Given the description of an element on the screen output the (x, y) to click on. 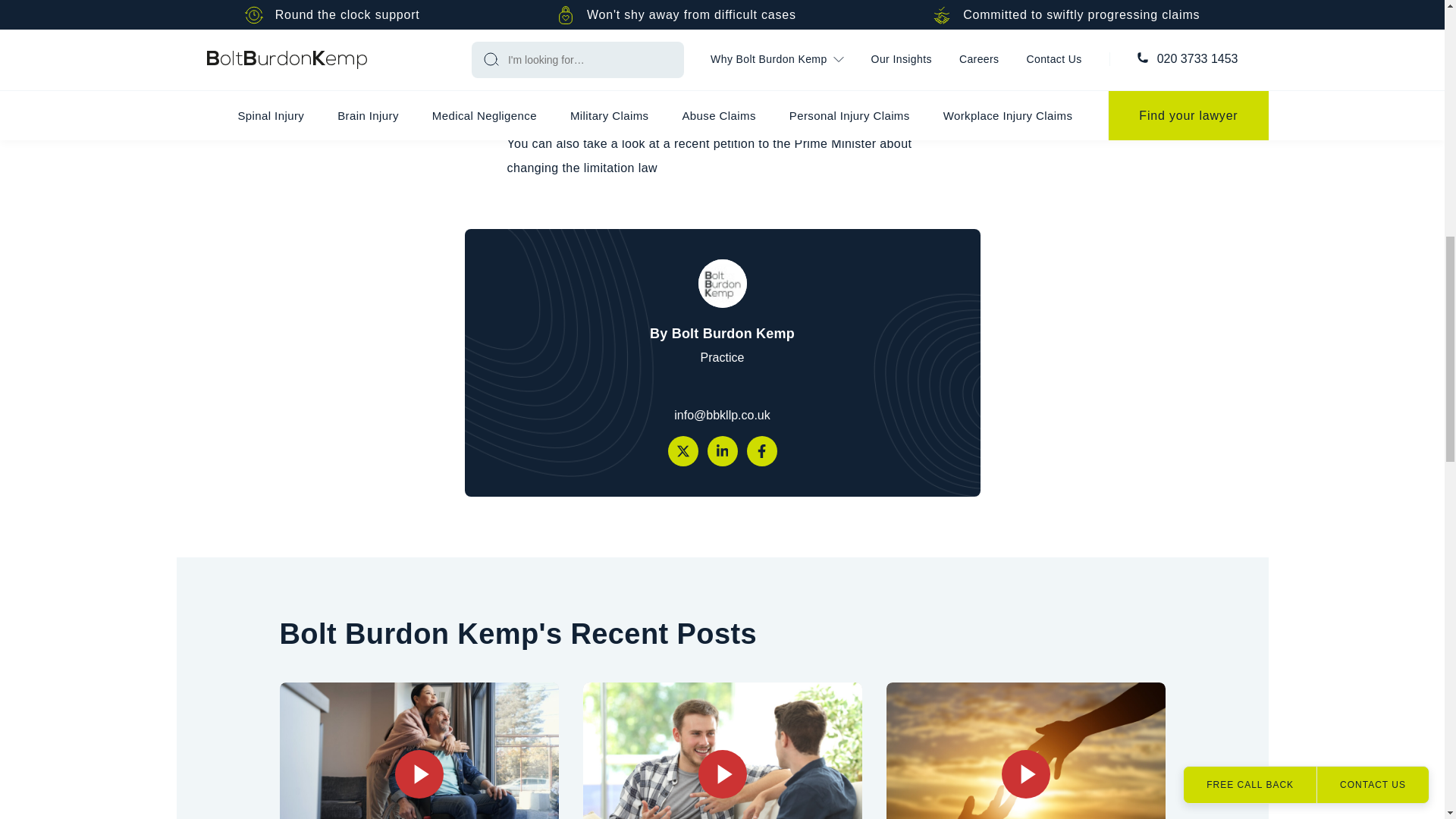
Two,Friends,Talking,Sitting,In,A,Couch,In,The,Living (721, 750)
Bolt Burdon Kemp (721, 283)
Happy,Man,Using,Wheelchair,Hugging,With,Wife (418, 750)
